Given the description of an element on the screen output the (x, y) to click on. 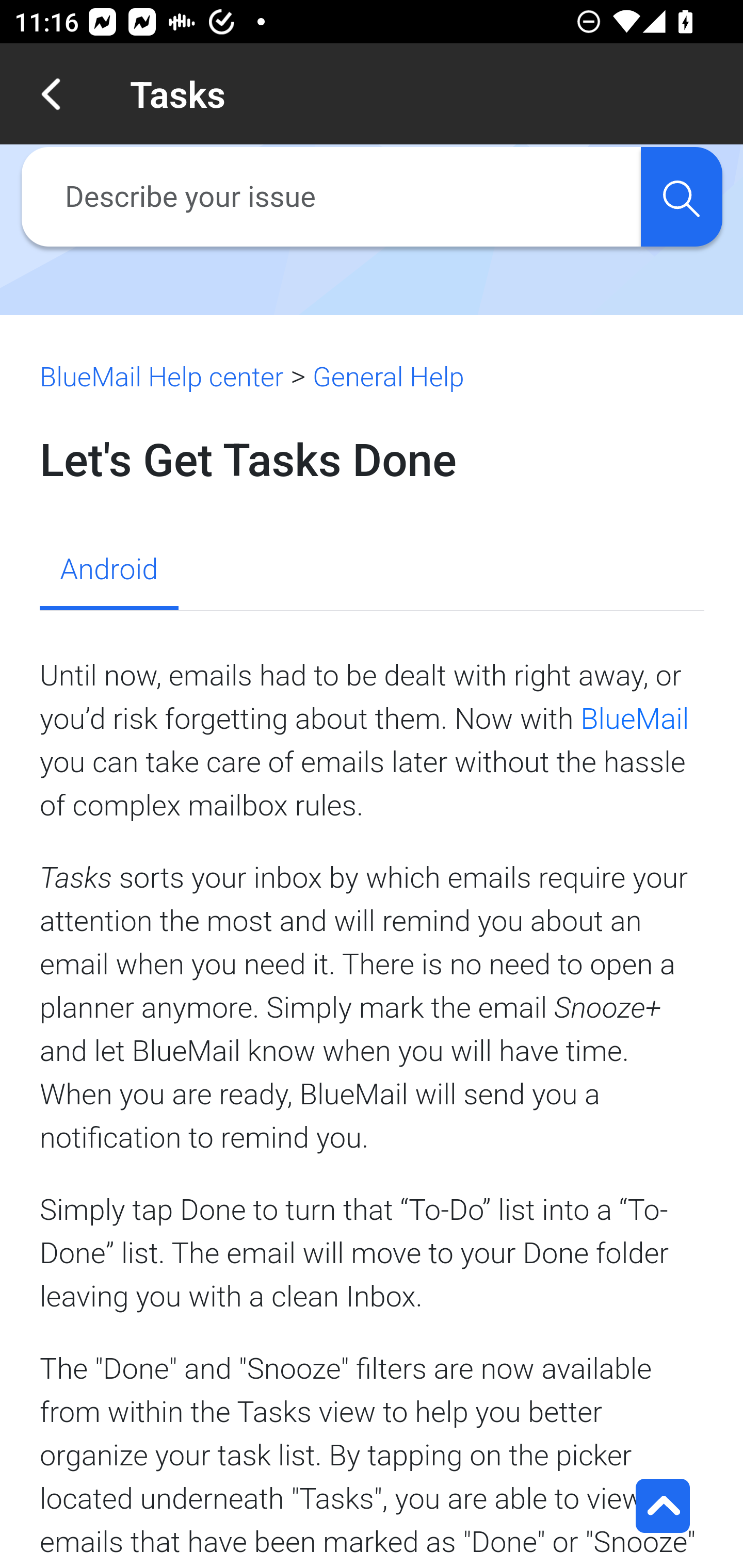
Navigate up (50, 93)
search (680, 196)
BlueMail Help center BlueMail  Help center (162, 376)
General Help (387, 376)
Android (108, 571)
BlueMail (634, 718)
